Given the description of an element on the screen output the (x, y) to click on. 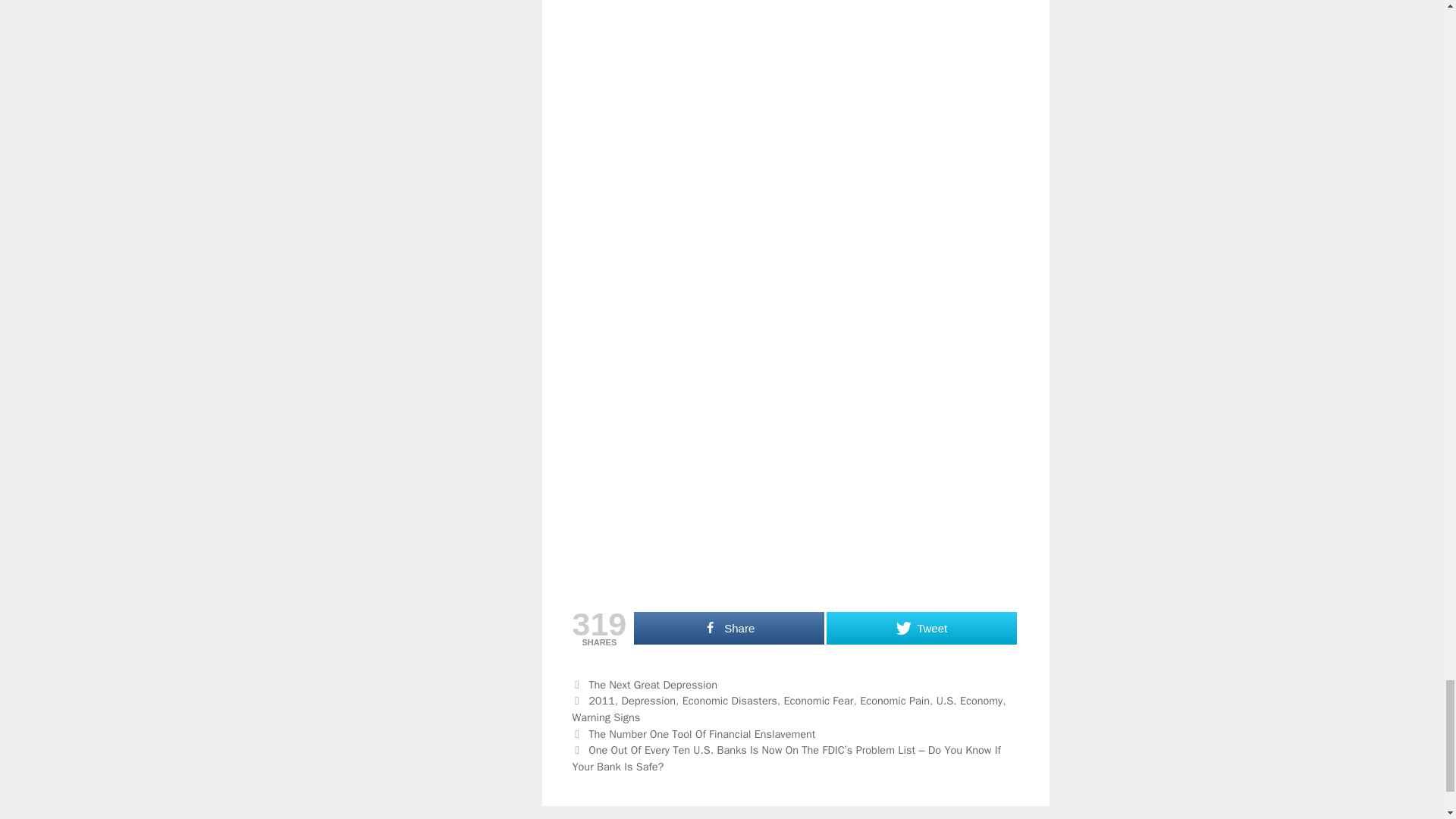
Economic Pain (895, 700)
Economic Disasters (729, 700)
Tweet (921, 627)
Economic Fear (818, 700)
U.S. Economy (969, 700)
2011 (601, 700)
The Next Great Depression (652, 684)
Depression (648, 700)
Share (728, 627)
